Given the description of an element on the screen output the (x, y) to click on. 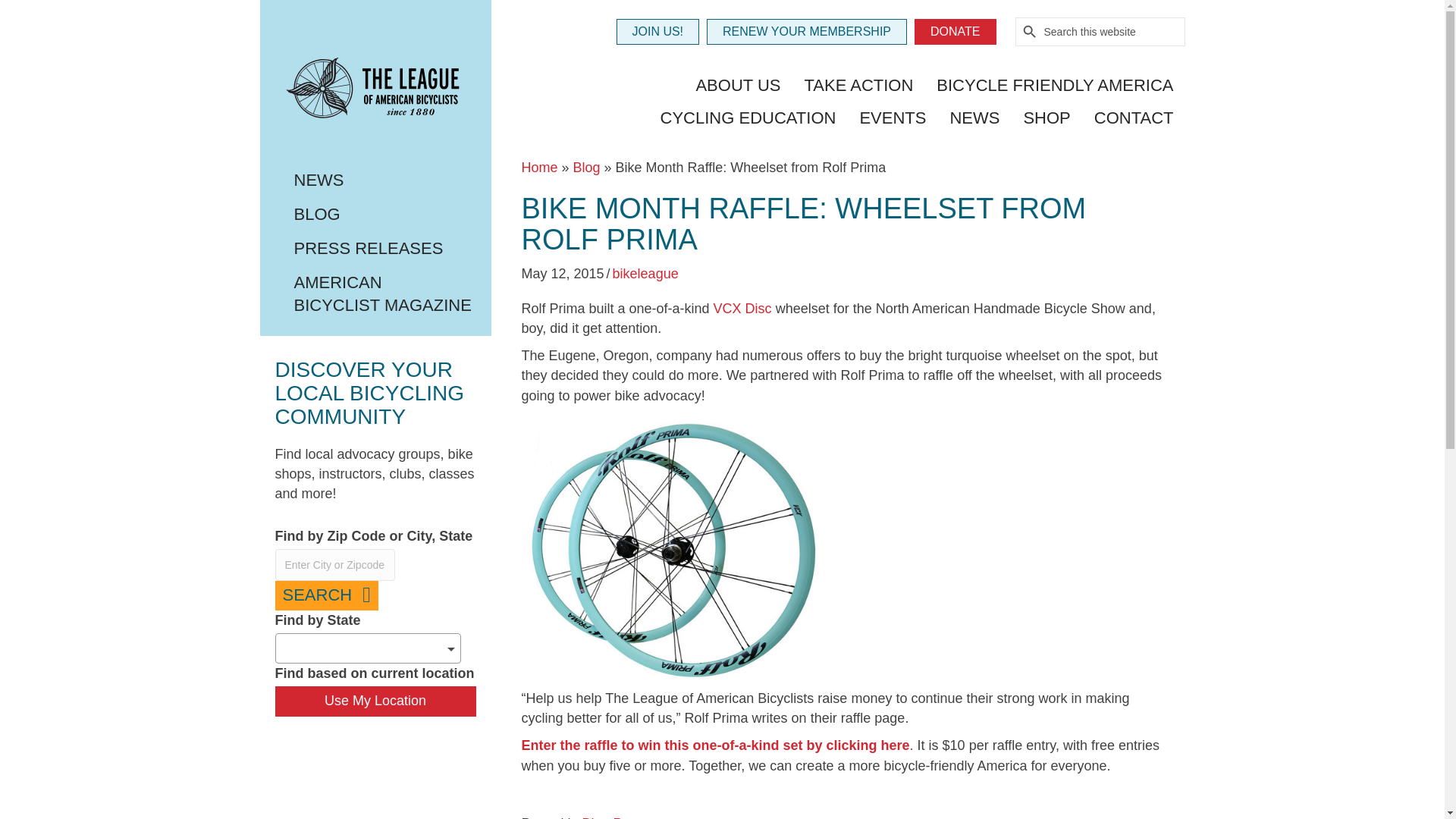
RENEW YOUR MEMBERSHIP (806, 31)
TAKE ACTION (858, 86)
The League of American Bicyclists (375, 91)
Search Button (1029, 31)
DONATE (954, 31)
ABOUT US (738, 86)
JOIN US! (656, 31)
